Given the description of an element on the screen output the (x, y) to click on. 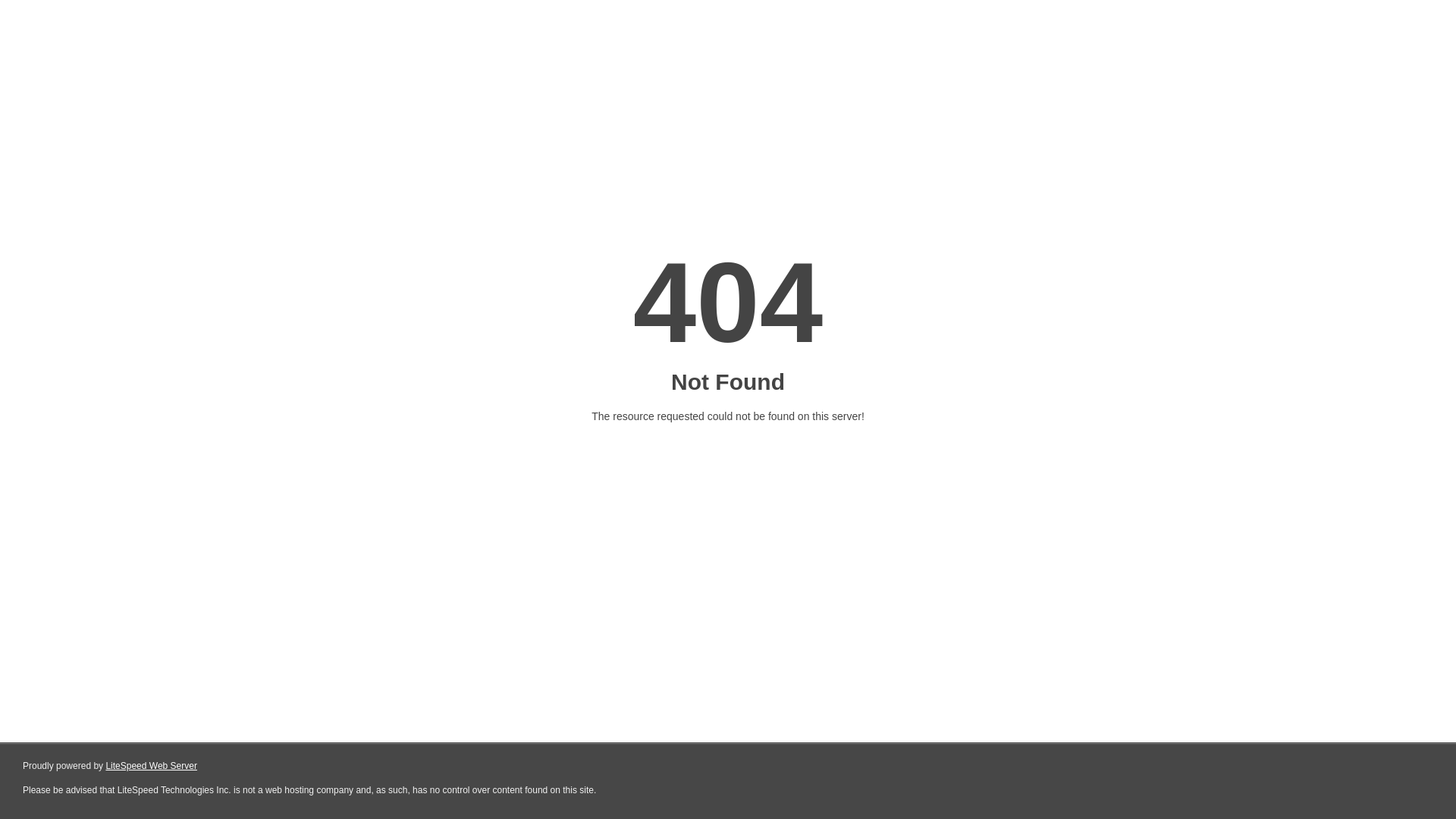
LiteSpeed Web Server (150, 765)
